Given the description of an element on the screen output the (x, y) to click on. 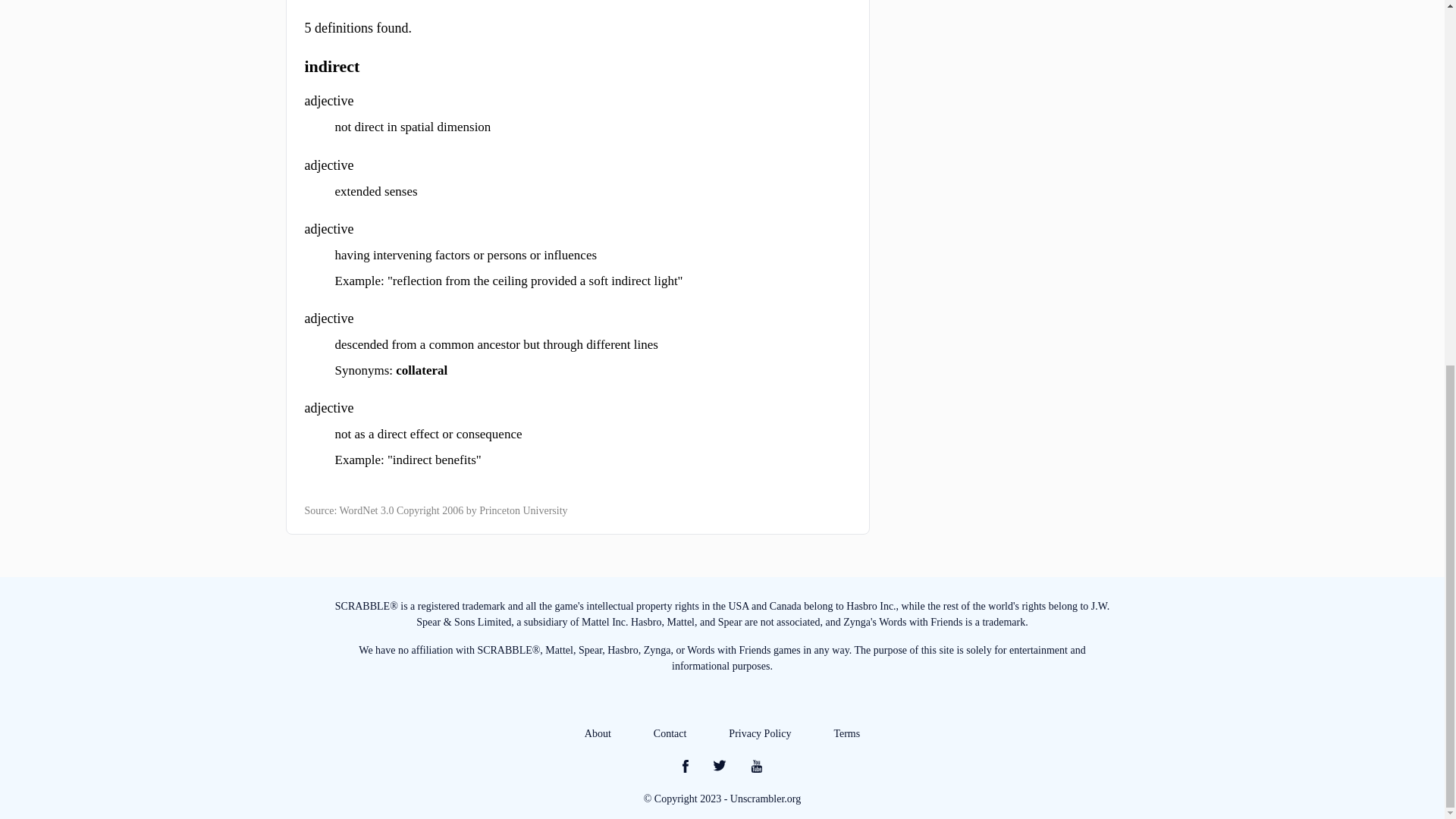
Terms (846, 733)
Contact (670, 733)
Privacy Policy (759, 733)
About (598, 733)
